Given the description of an element on the screen output the (x, y) to click on. 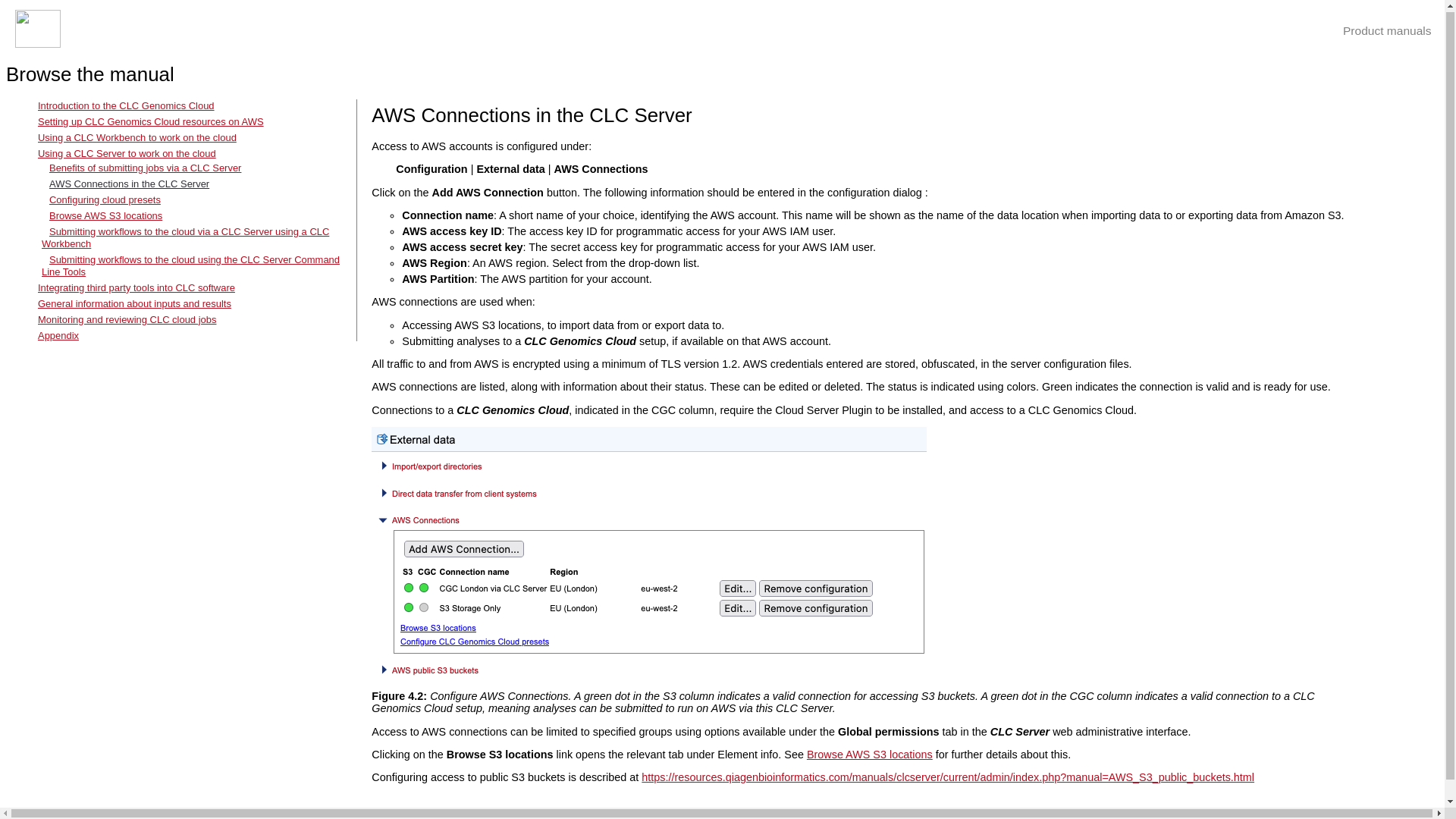
AWS Connections in the CLC Server (129, 183)
Benefits of submitting jobs via a CLC Server (145, 167)
Product manuals (1386, 30)
Integrating third party tools into CLC software (135, 287)
Using a CLC Server to work on the cloud (126, 153)
Monitoring and reviewing CLC cloud jobs (126, 319)
Browse AWS S3 locations (105, 215)
Setting up CLC Genomics Cloud resources on AWS (150, 121)
General information about inputs and results (134, 303)
